Given the description of an element on the screen output the (x, y) to click on. 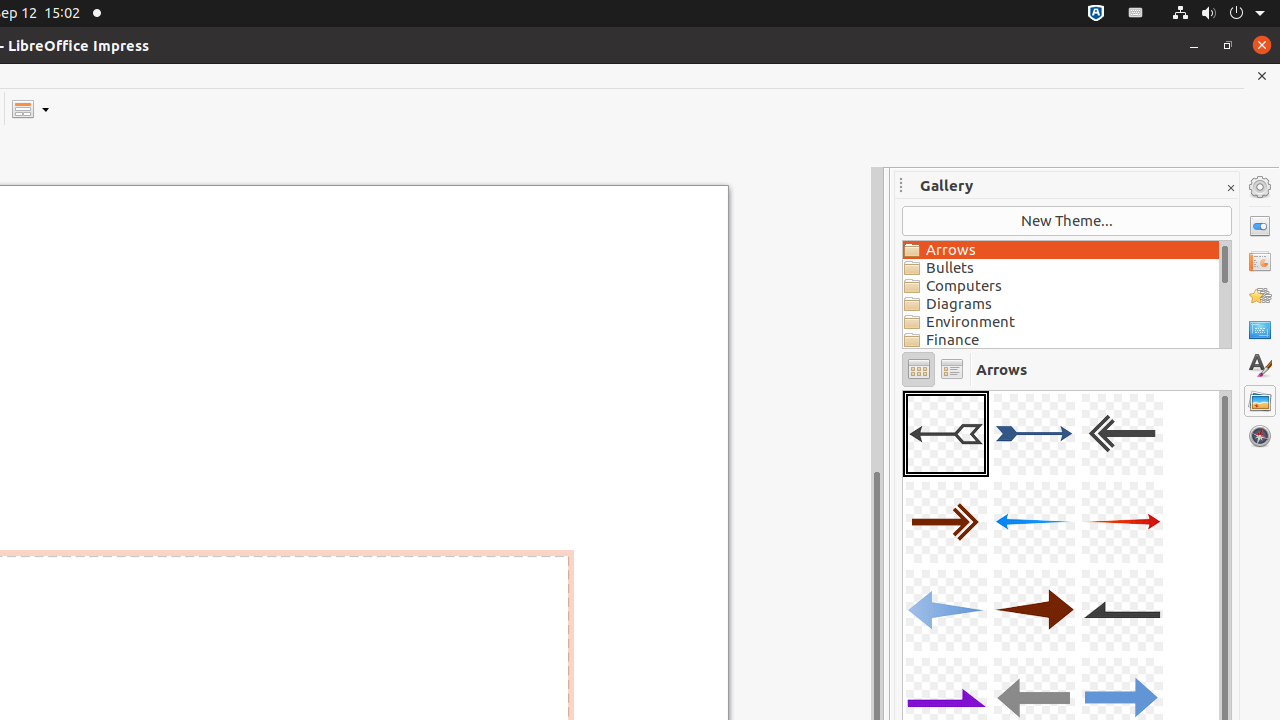
Gallery Element type: radio-button (1260, 401)
Bullets Element type: list-item (1061, 268)
System Element type: menu (1218, 13)
A02-Arrow-DarkBlue-Right Element type: list-item (1034, 433)
A08-Arrow-DarkRed-Right Element type: list-item (1034, 610)
